Given the description of an element on the screen output the (x, y) to click on. 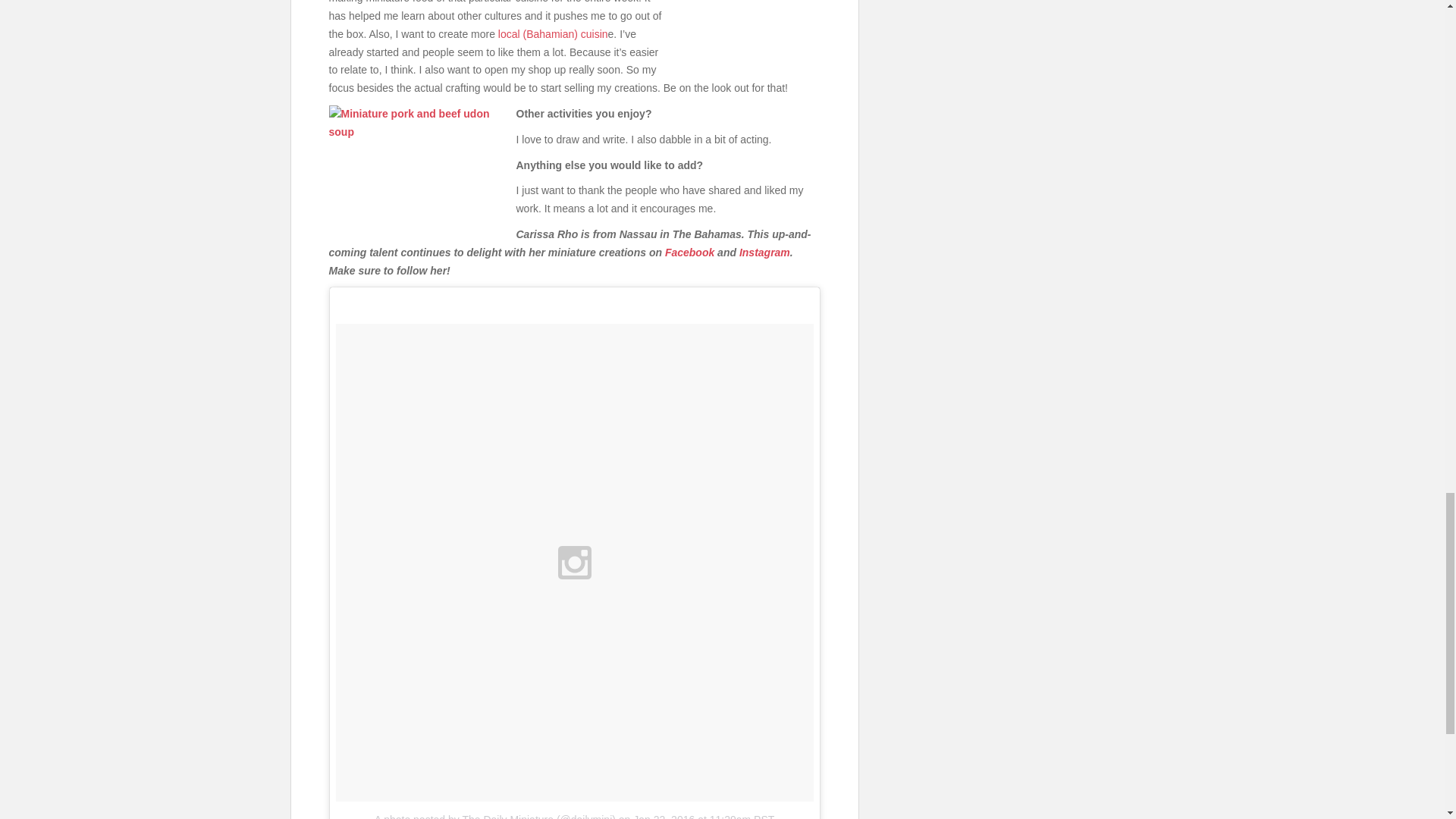
Facebook (689, 252)
Instagram (764, 252)
